Given the description of an element on the screen output the (x, y) to click on. 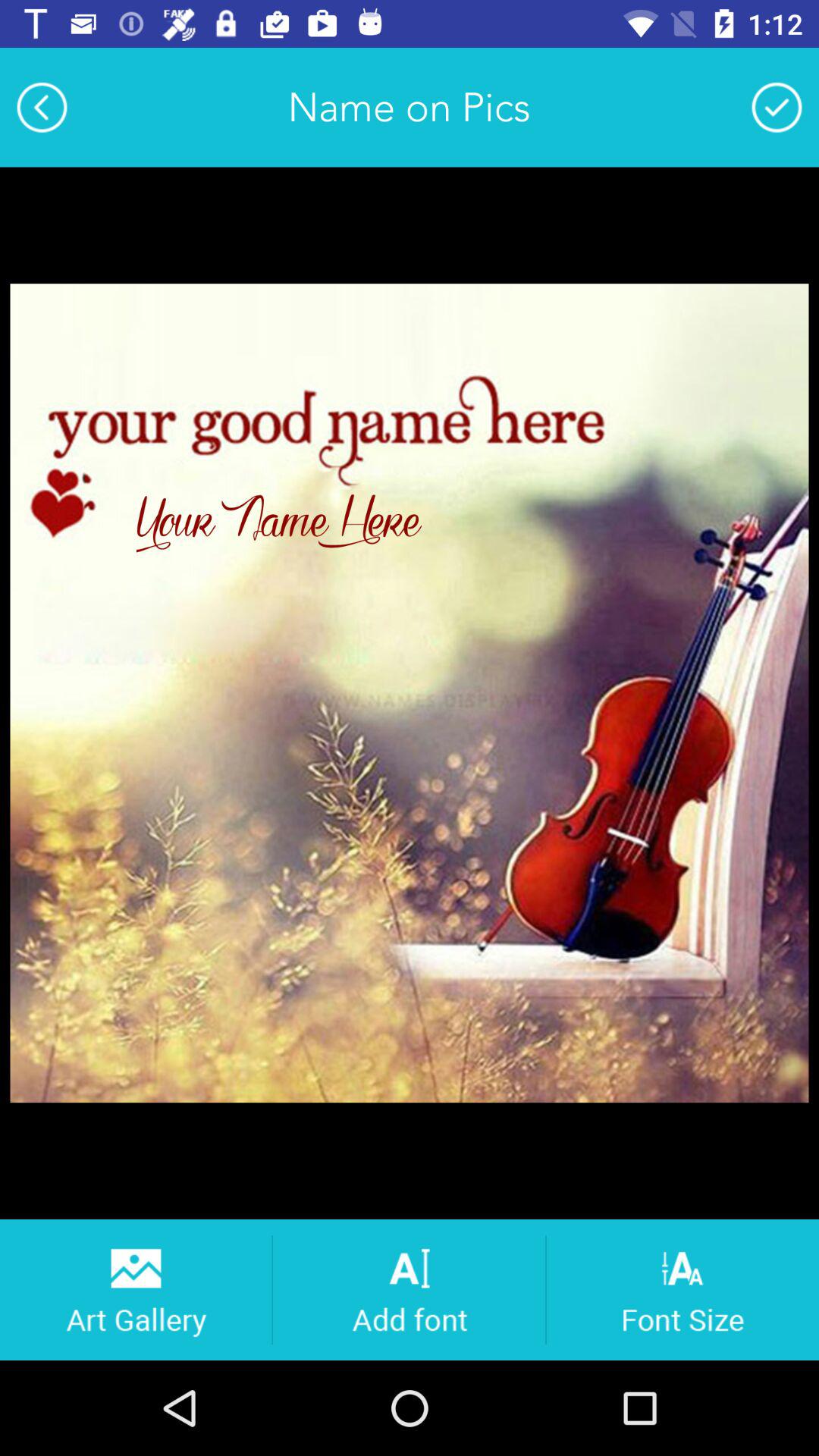
add font (409, 1289)
